Given the description of an element on the screen output the (x, y) to click on. 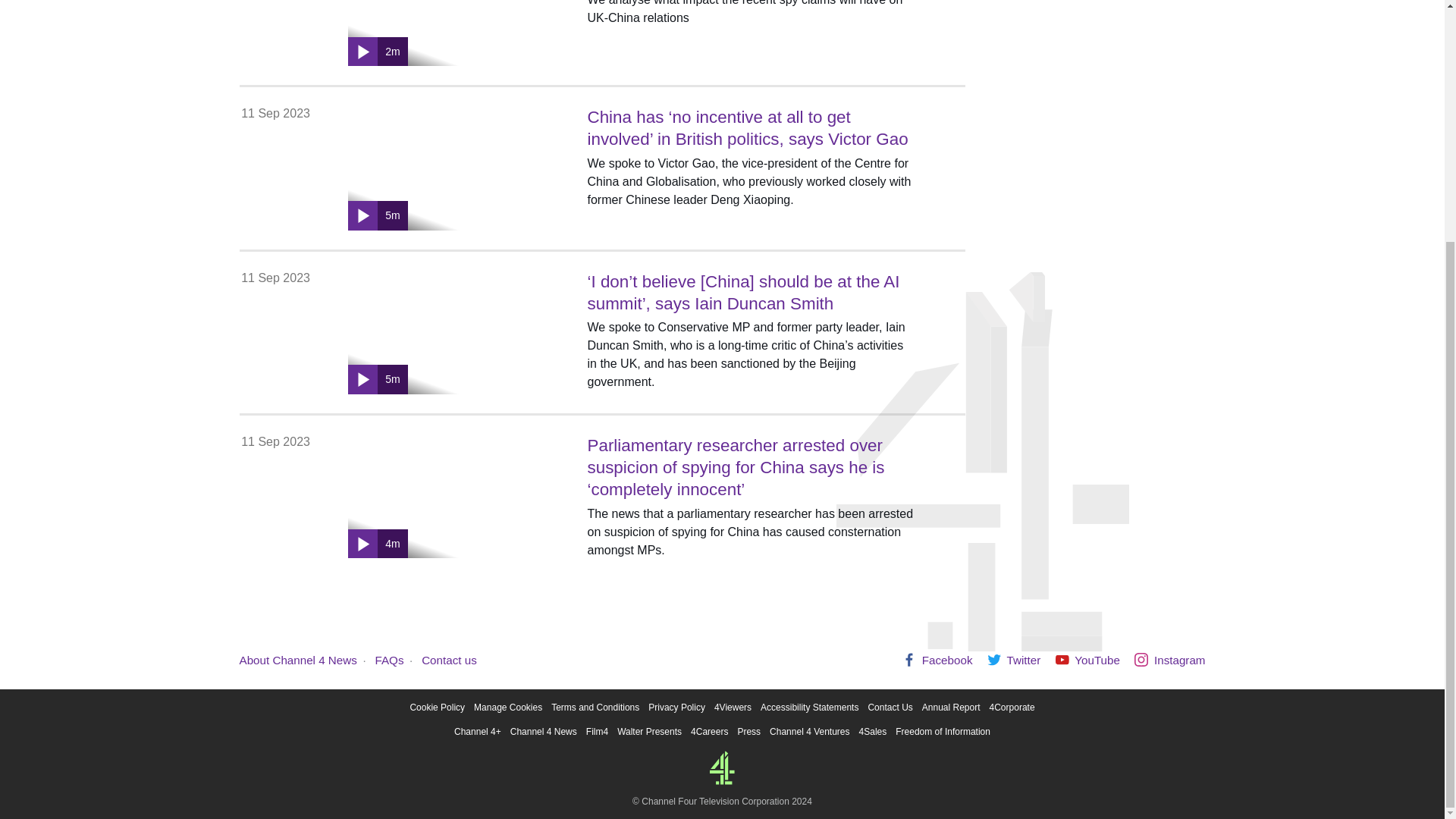
4Viewers (732, 706)
Terms and Conditions (595, 706)
Cookie Policy (436, 706)
4Corporate (1012, 706)
Manage Cookies (507, 706)
Facebook (937, 659)
Accessibility Statements (809, 706)
Contact us (449, 659)
YouTube (1087, 659)
FAQs (389, 659)
